Given the description of an element on the screen output the (x, y) to click on. 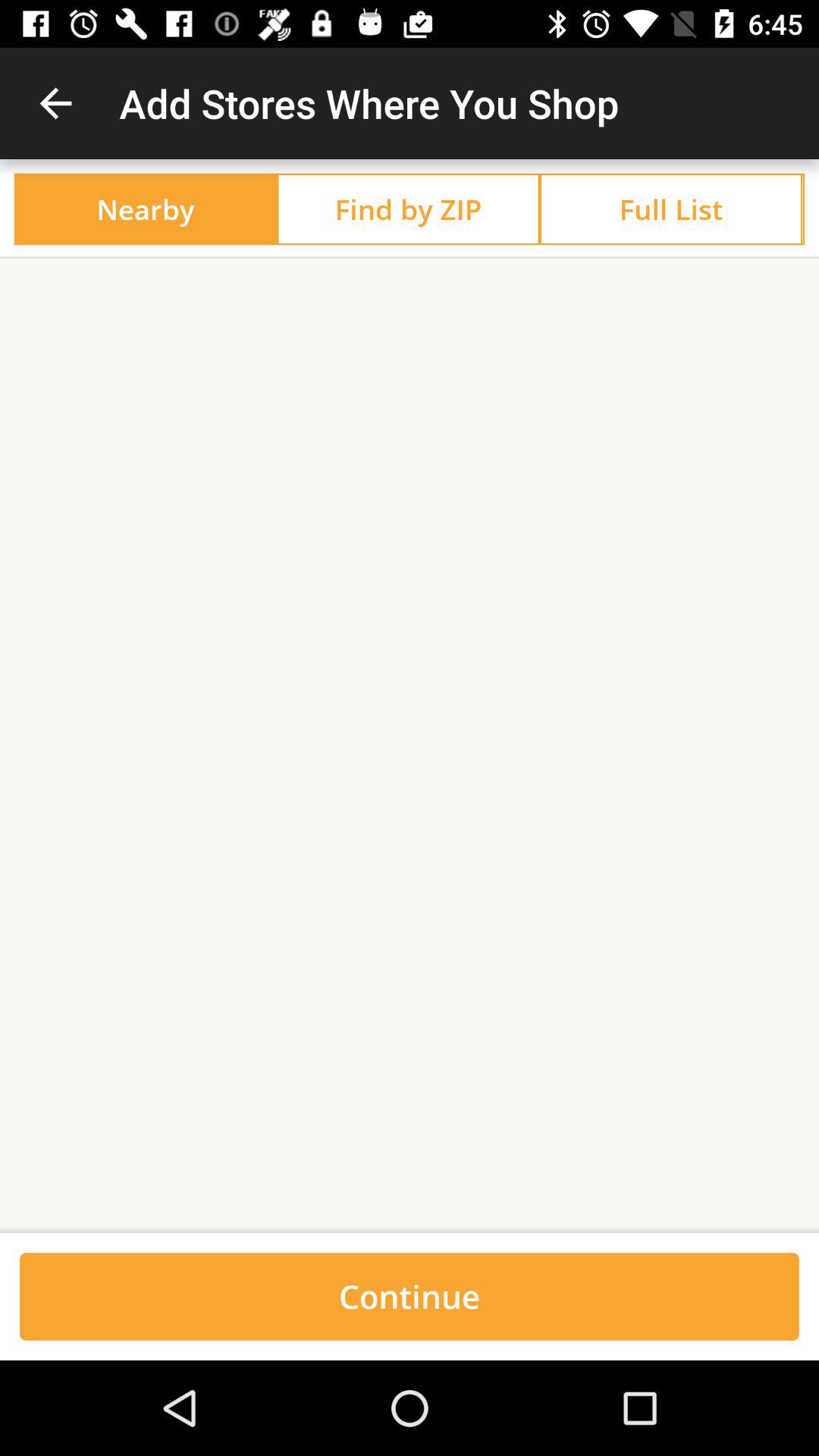
turn on the item above the continue icon (409, 1227)
